Given the description of an element on the screen output the (x, y) to click on. 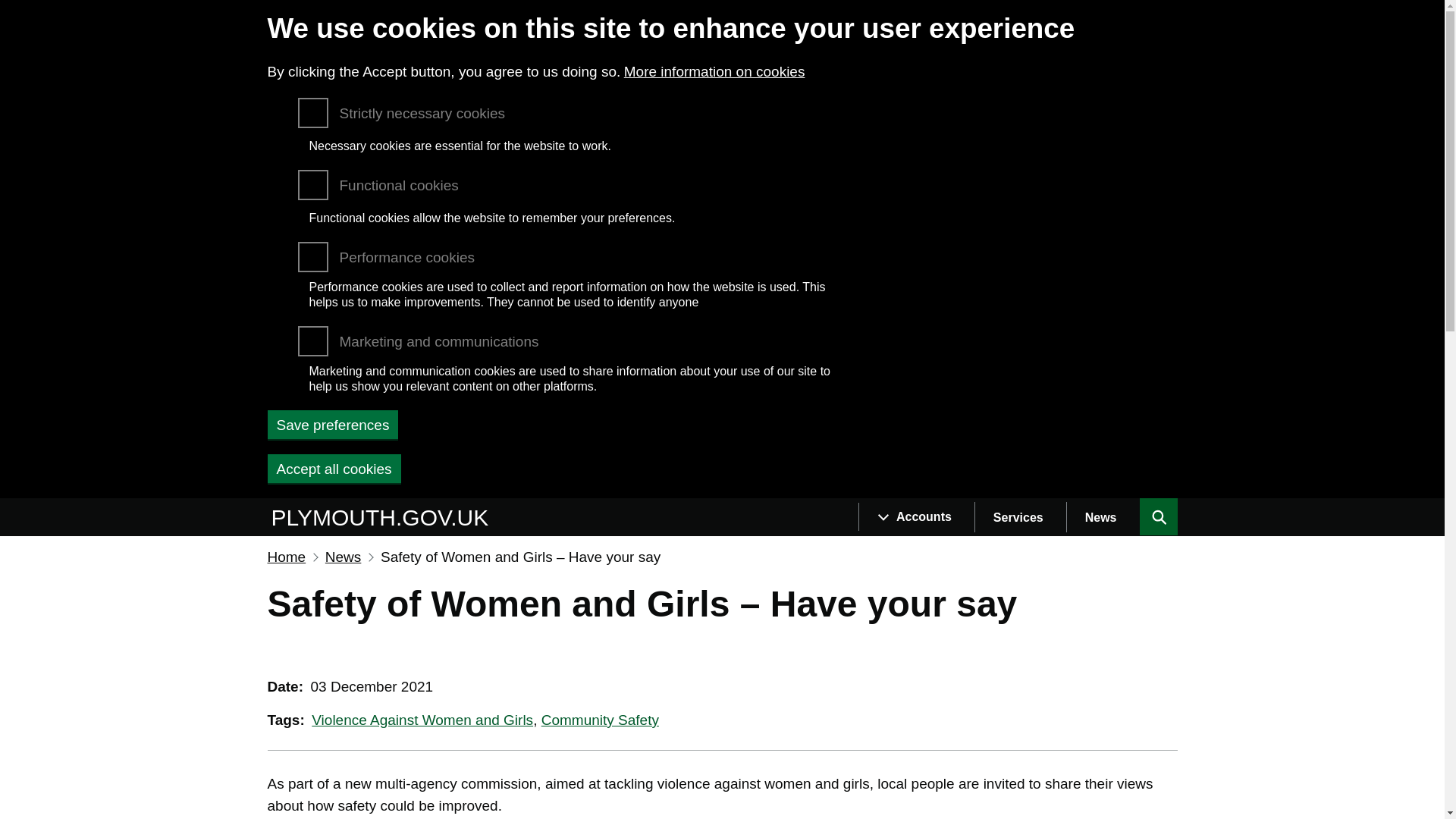
Accounts (916, 516)
More information on cookies (714, 71)
Home (285, 556)
PLYMOUTH.GOV.UK (381, 517)
Search this site (1157, 516)
Home (381, 517)
News (1102, 516)
Services (1019, 516)
News (342, 556)
Community Safety (600, 719)
Violence Against Women and Girls (421, 719)
Skip to main content (11, 505)
Accept all cookies (333, 468)
Save preferences (331, 424)
